Given the description of an element on the screen output the (x, y) to click on. 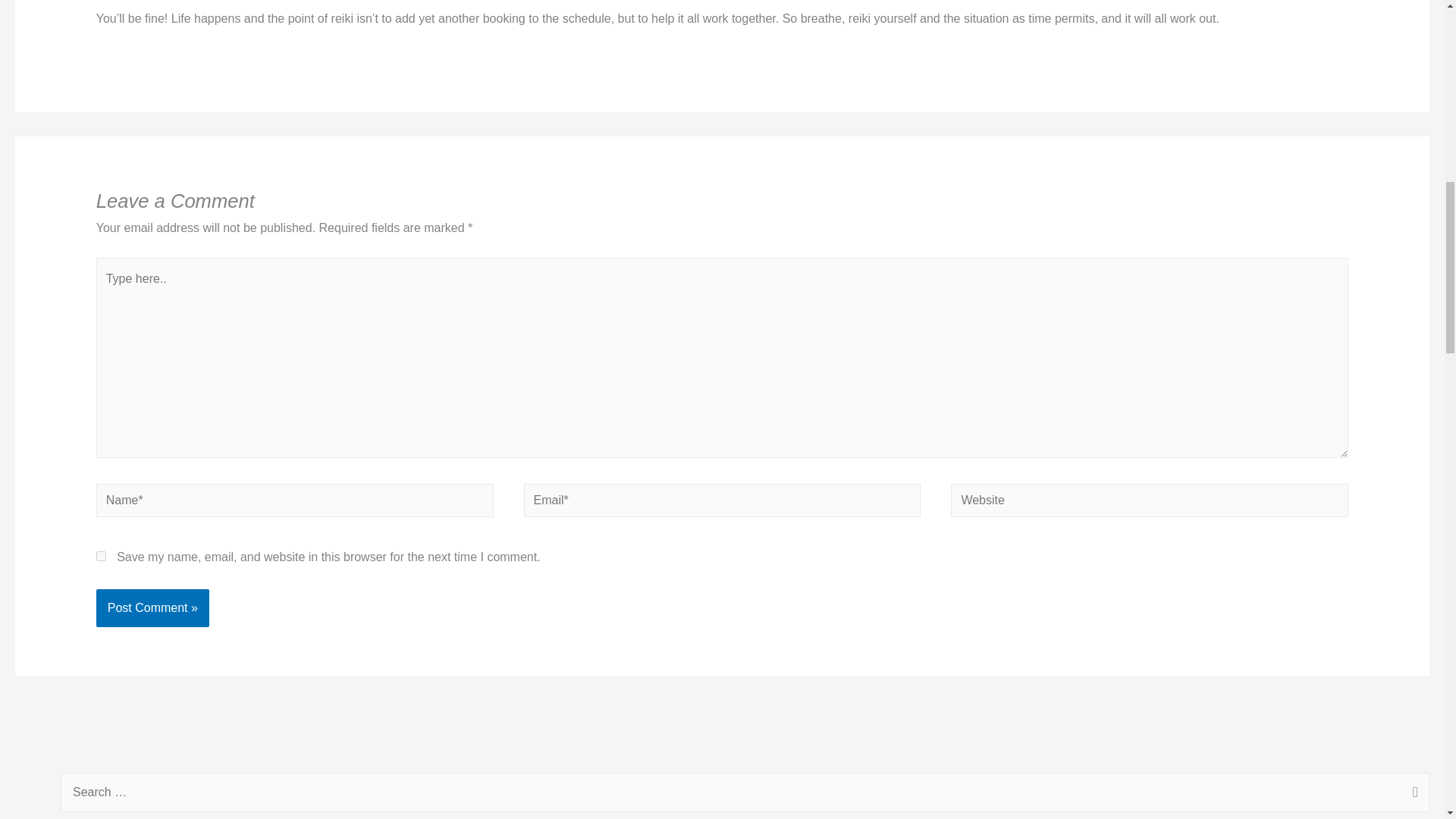
yes (101, 556)
